Given the description of an element on the screen output the (x, y) to click on. 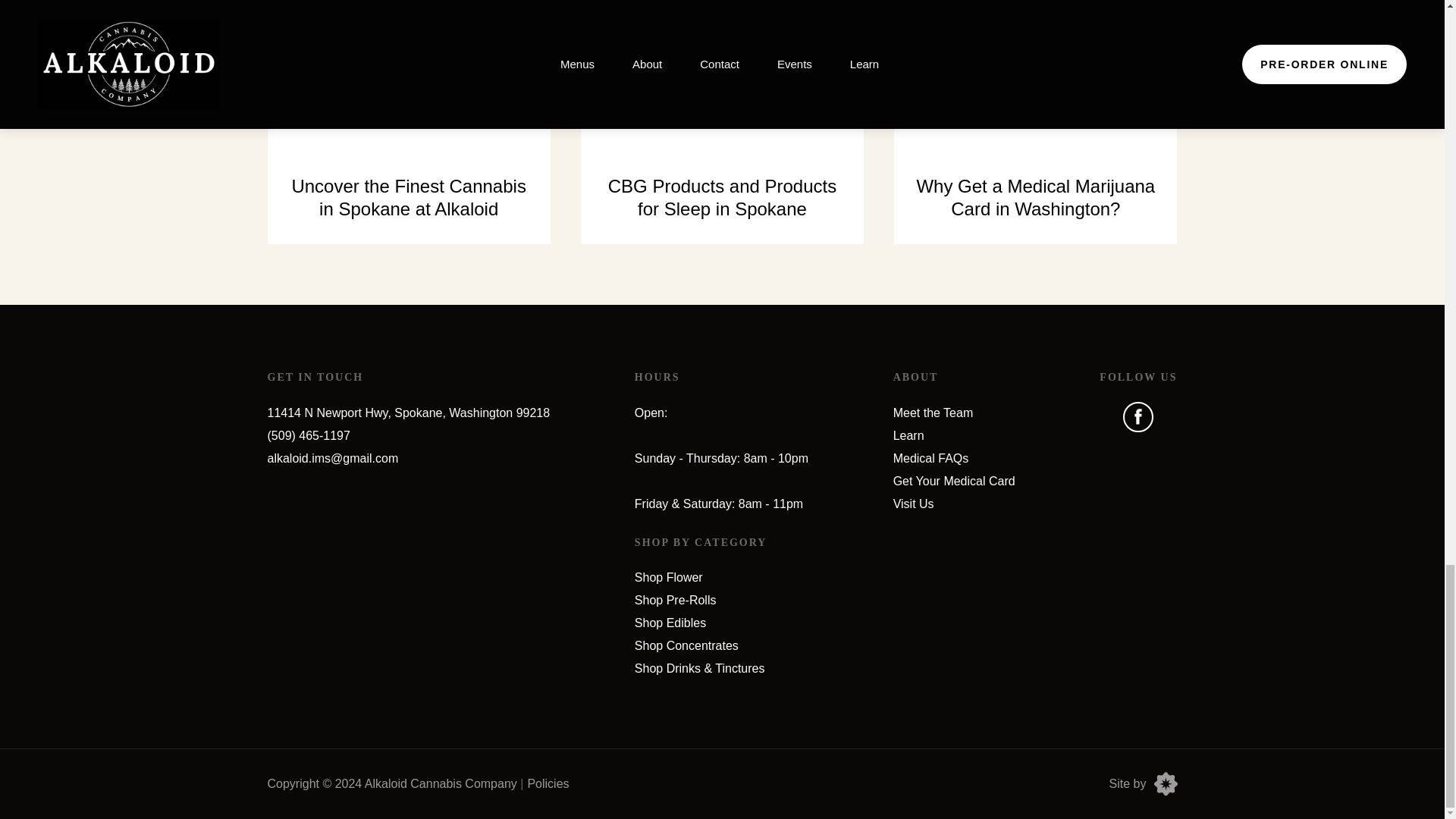
Medical FAQs (931, 458)
Shop Flower (668, 576)
Shop Pre-Rolls (675, 599)
Meet the Team (933, 412)
Why Get a Medical Marijuana Card in Washington? (1034, 122)
Shop Edibles (670, 622)
11414 N Newport Hwy, Spokane, Washington 99218 (408, 412)
Uncover the Finest Cannabis in Spokane at Alkaloid (408, 122)
Learn (908, 435)
CBG Products and Products for Sleep in Spokane (721, 122)
Shop Concentrates (686, 645)
